Given the description of an element on the screen output the (x, y) to click on. 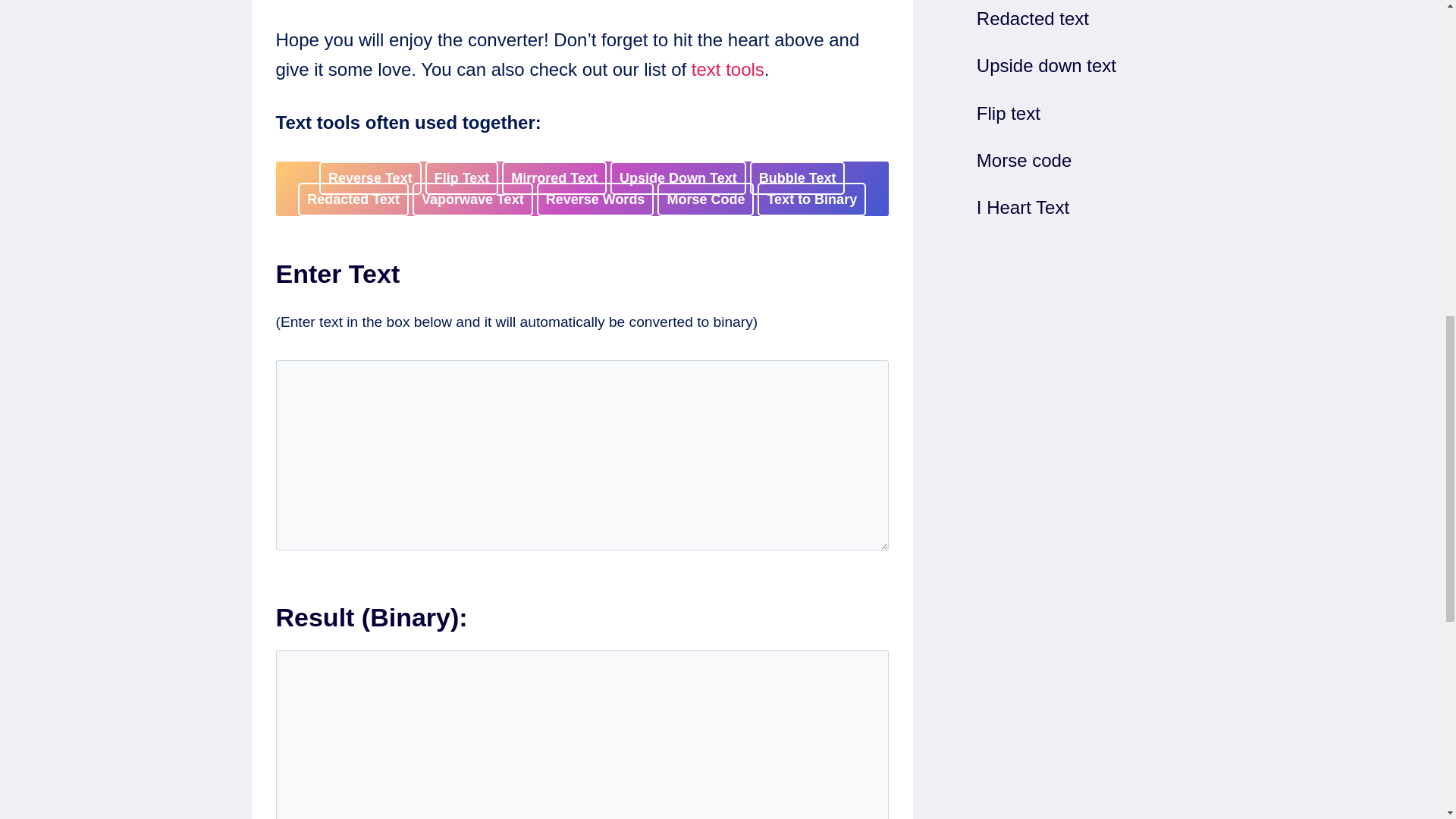
Text to Binary (811, 199)
Reverse Text (370, 177)
Upside Down Text (677, 177)
Bubble Text (797, 177)
Reverse Words (595, 199)
text tools (727, 68)
Flip Text (462, 177)
Morse Code (706, 199)
Redacted Text (353, 199)
Vaporwave Text (472, 199)
